Given the description of an element on the screen output the (x, y) to click on. 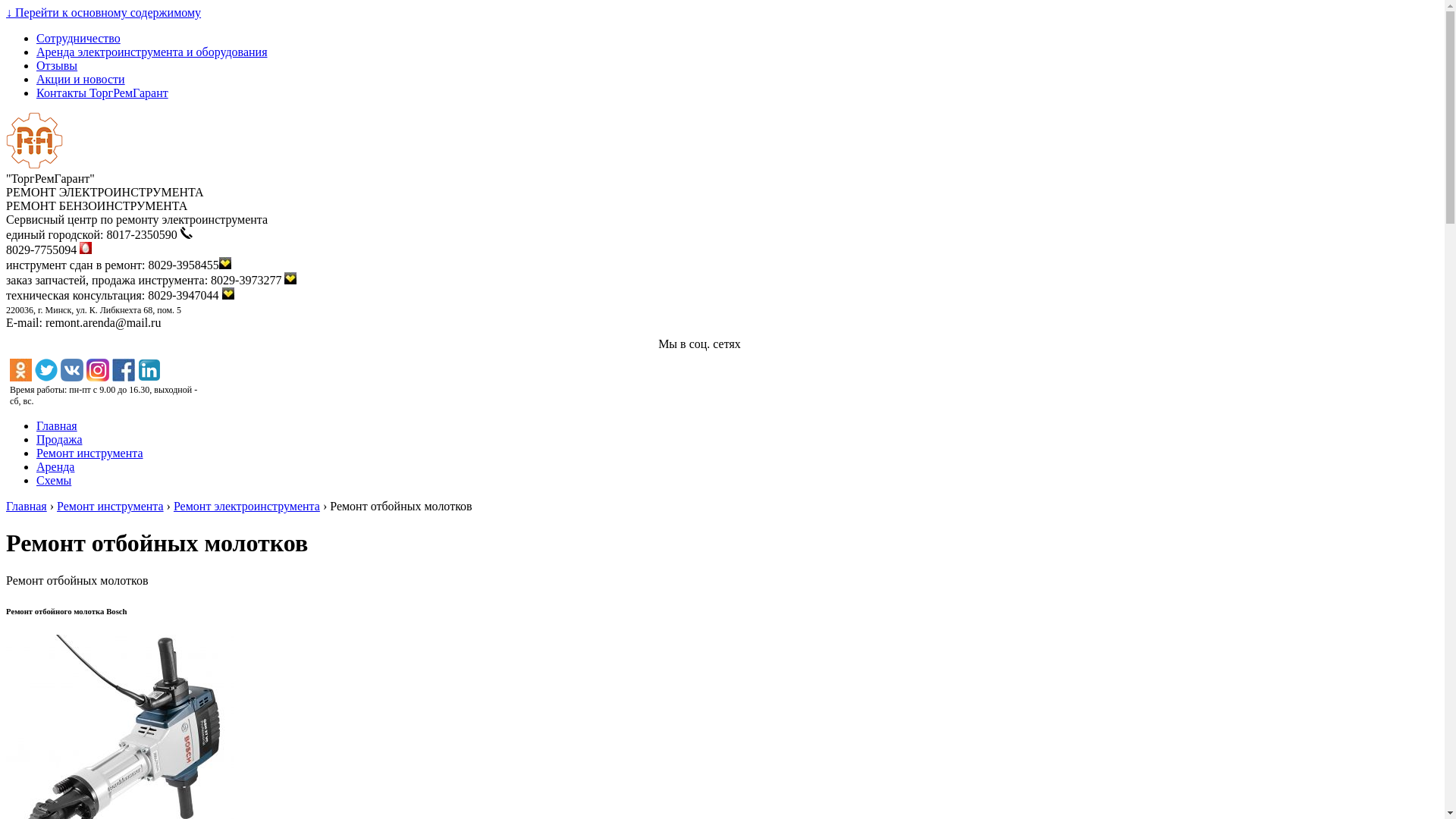
linkedin Element type: hover (149, 369)
twitter Element type: hover (45, 369)
vk Element type: hover (71, 369)
instagram Element type: hover (97, 369)
